Given the description of an element on the screen output the (x, y) to click on. 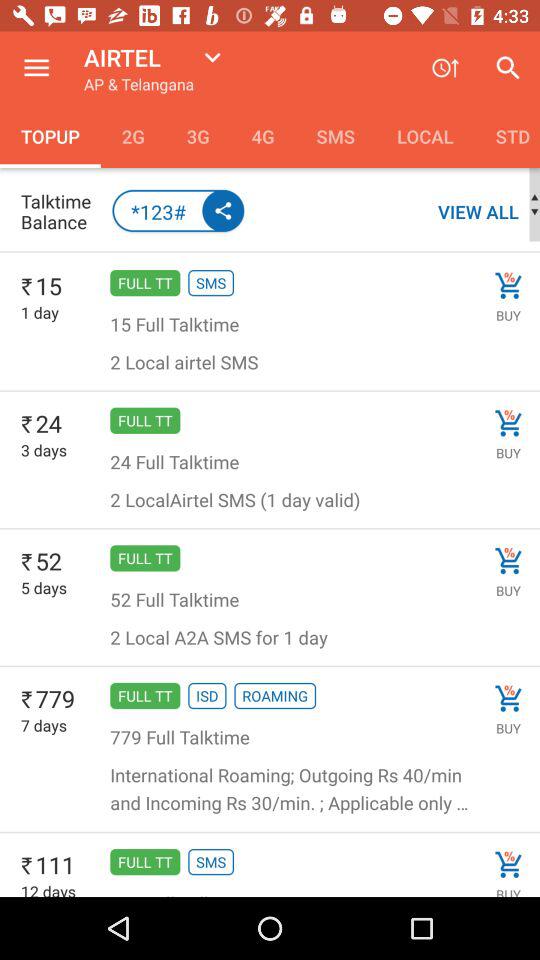
press icon below topup icon (60, 212)
